Given the description of an element on the screen output the (x, y) to click on. 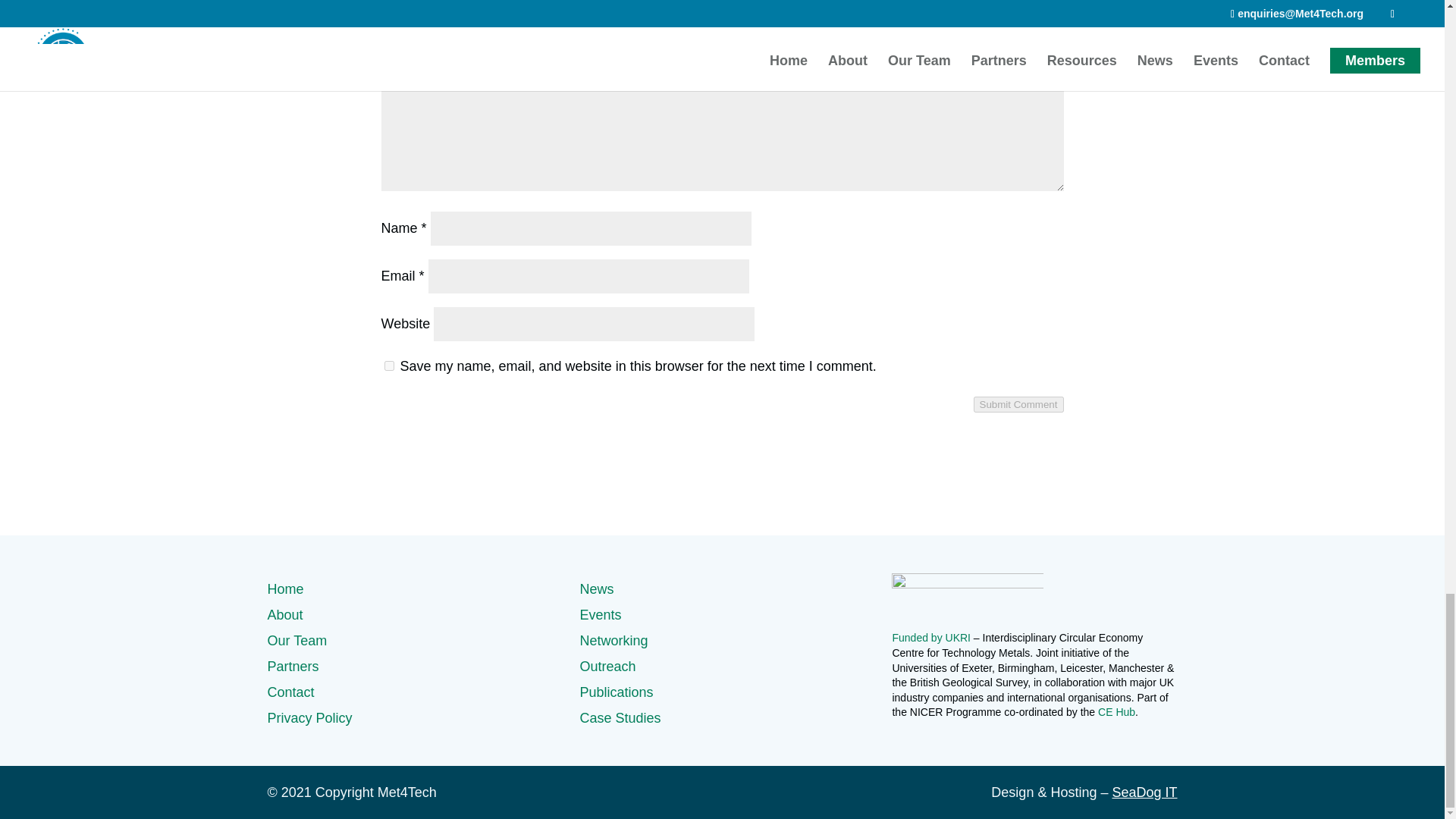
Networking (613, 640)
Contact (290, 692)
About (284, 614)
ukri-logo (967, 595)
SeaDog IT (1144, 792)
yes (388, 366)
Events (600, 614)
News (595, 589)
Privacy Policy (309, 717)
Partners (292, 666)
